Given the description of an element on the screen output the (x, y) to click on. 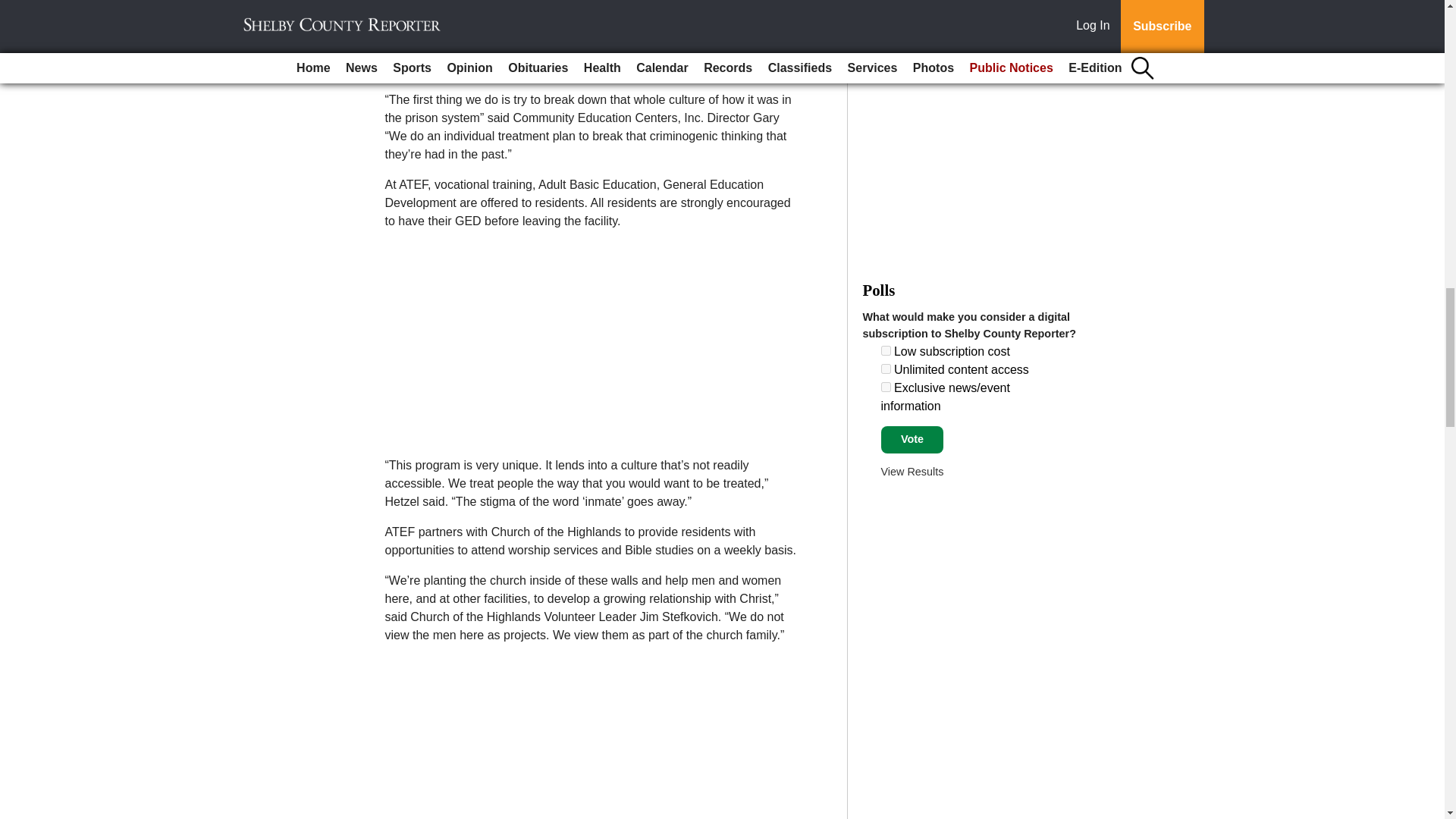
4637 (885, 368)
View Results Of This Poll (911, 471)
Subscribe (434, 5)
4638 (885, 387)
4636 (885, 350)
   Vote    (911, 439)
